Given the description of an element on the screen output the (x, y) to click on. 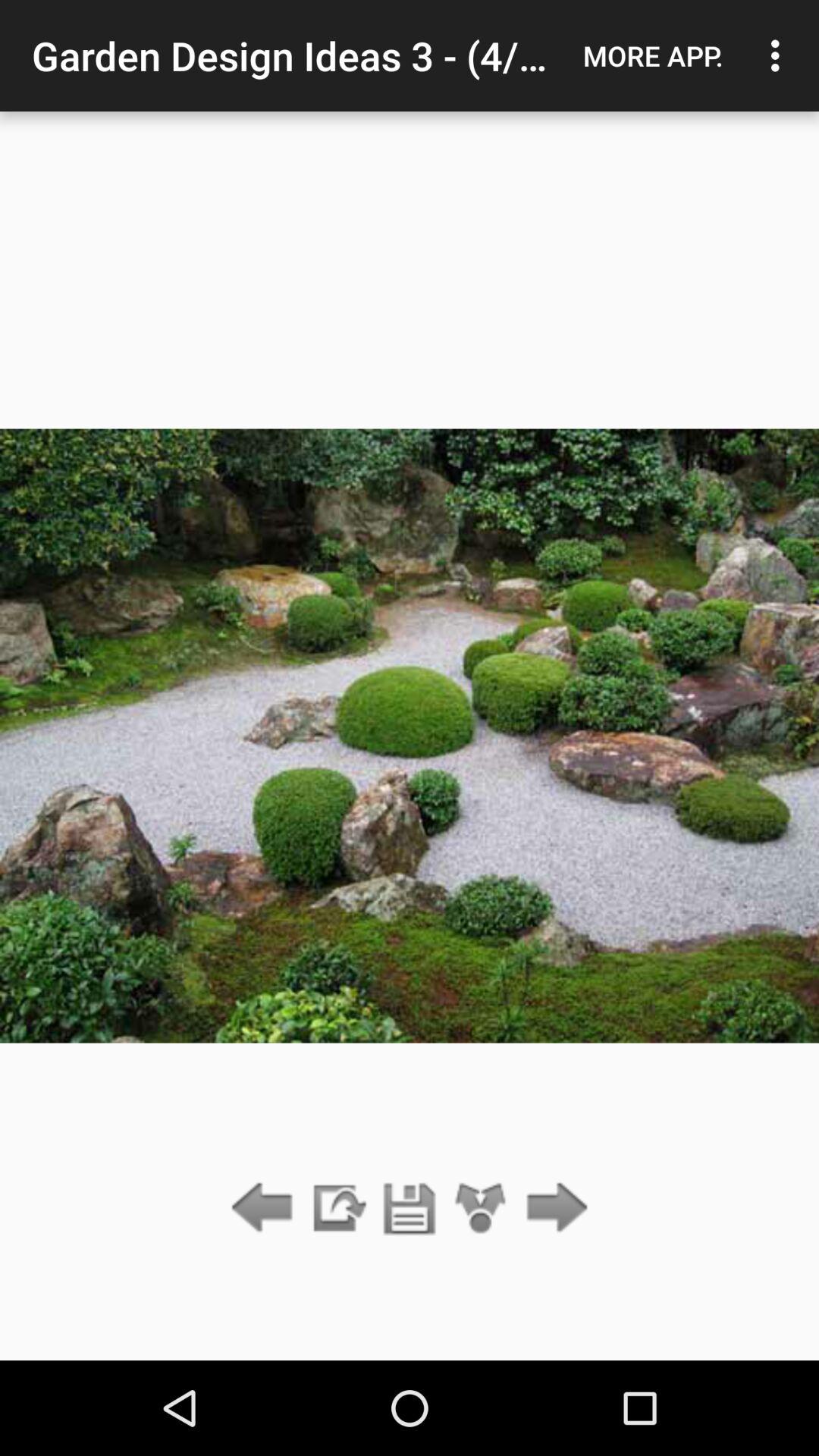
go back (266, 1209)
